Given the description of an element on the screen output the (x, y) to click on. 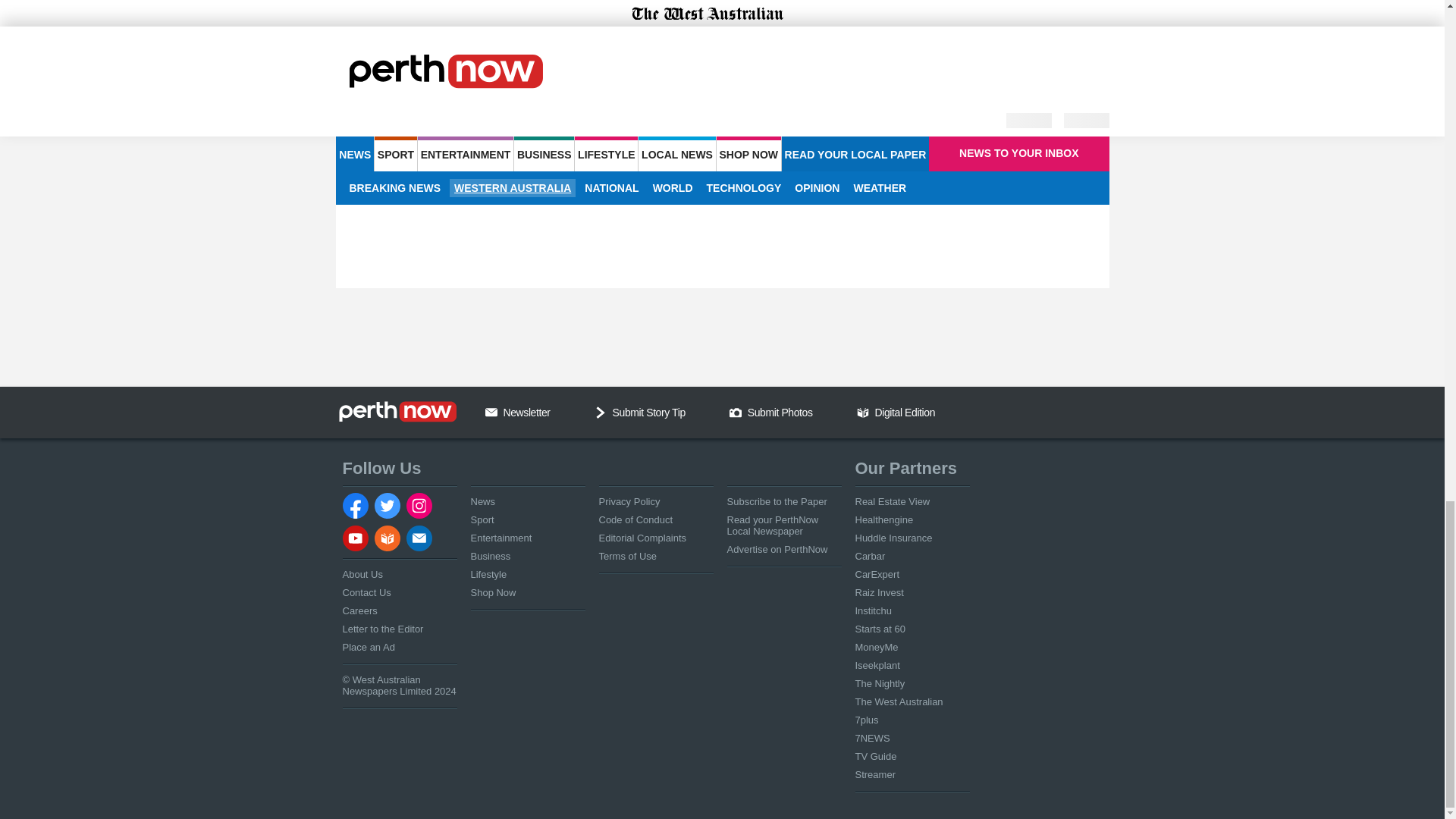
Camera Icon (735, 412)
Email Us (490, 412)
Chevron Down Icon (600, 412)
